Given the description of an element on the screen output the (x, y) to click on. 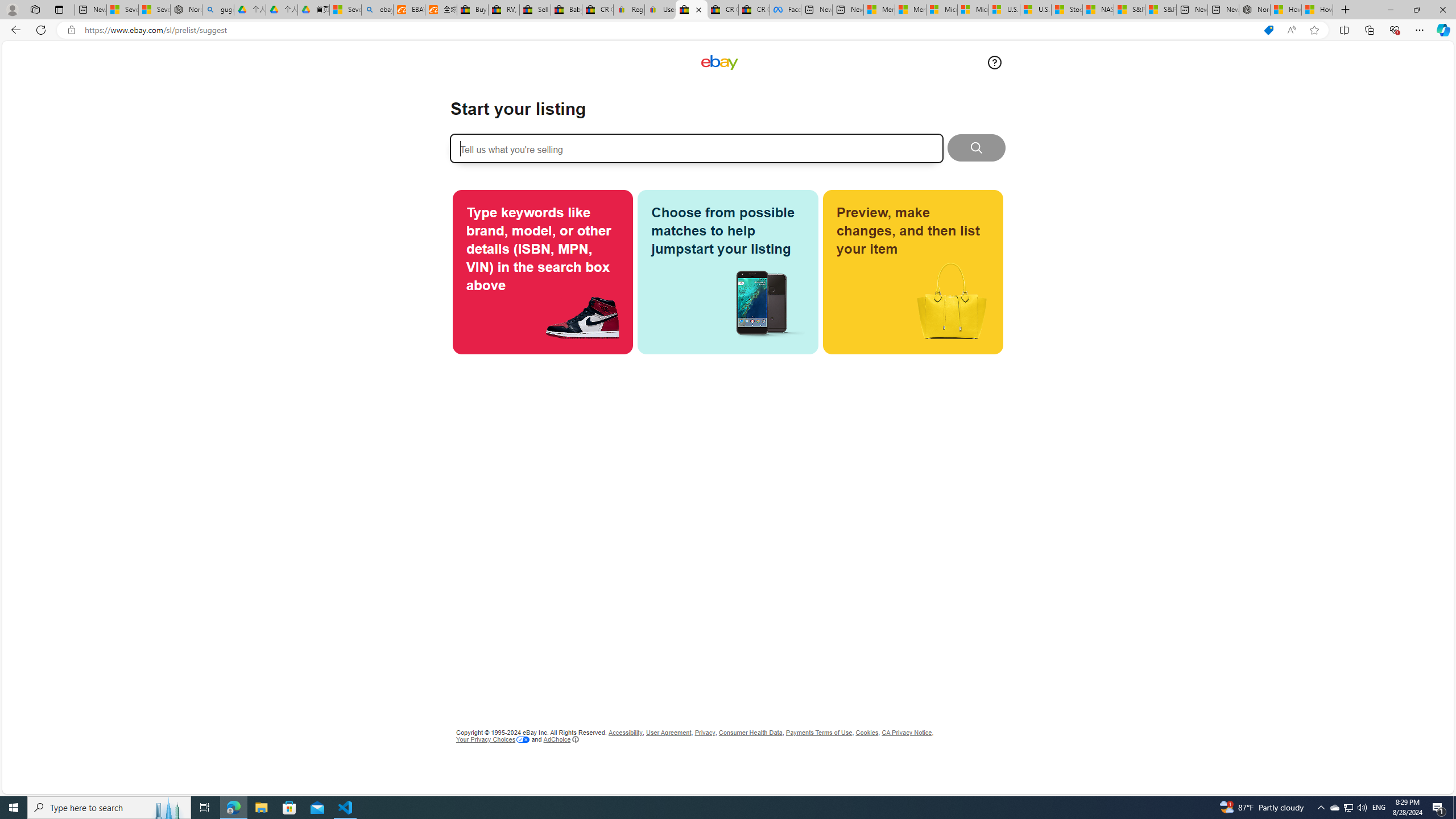
Accessibility (625, 732)
Privacy (704, 732)
Register: Create a personal eBay account (628, 9)
List an item | eBay (691, 9)
Consumer Health Data (750, 732)
Buy Auto Parts & Accessories | eBay (472, 9)
